Given the description of an element on the screen output the (x, y) to click on. 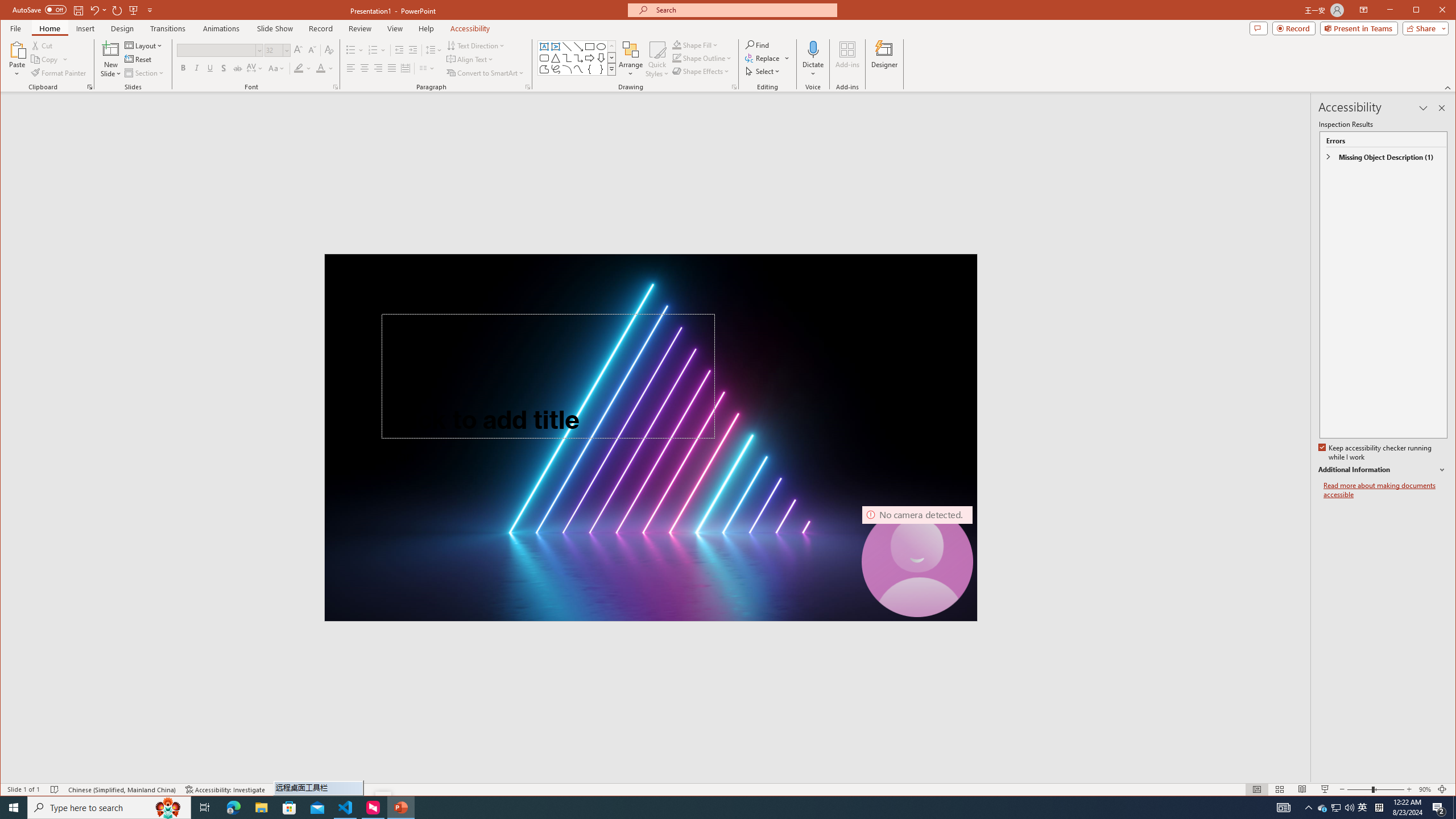
Strikethrough (237, 68)
Increase Font Size (297, 49)
